Given the description of an element on the screen output the (x, y) to click on. 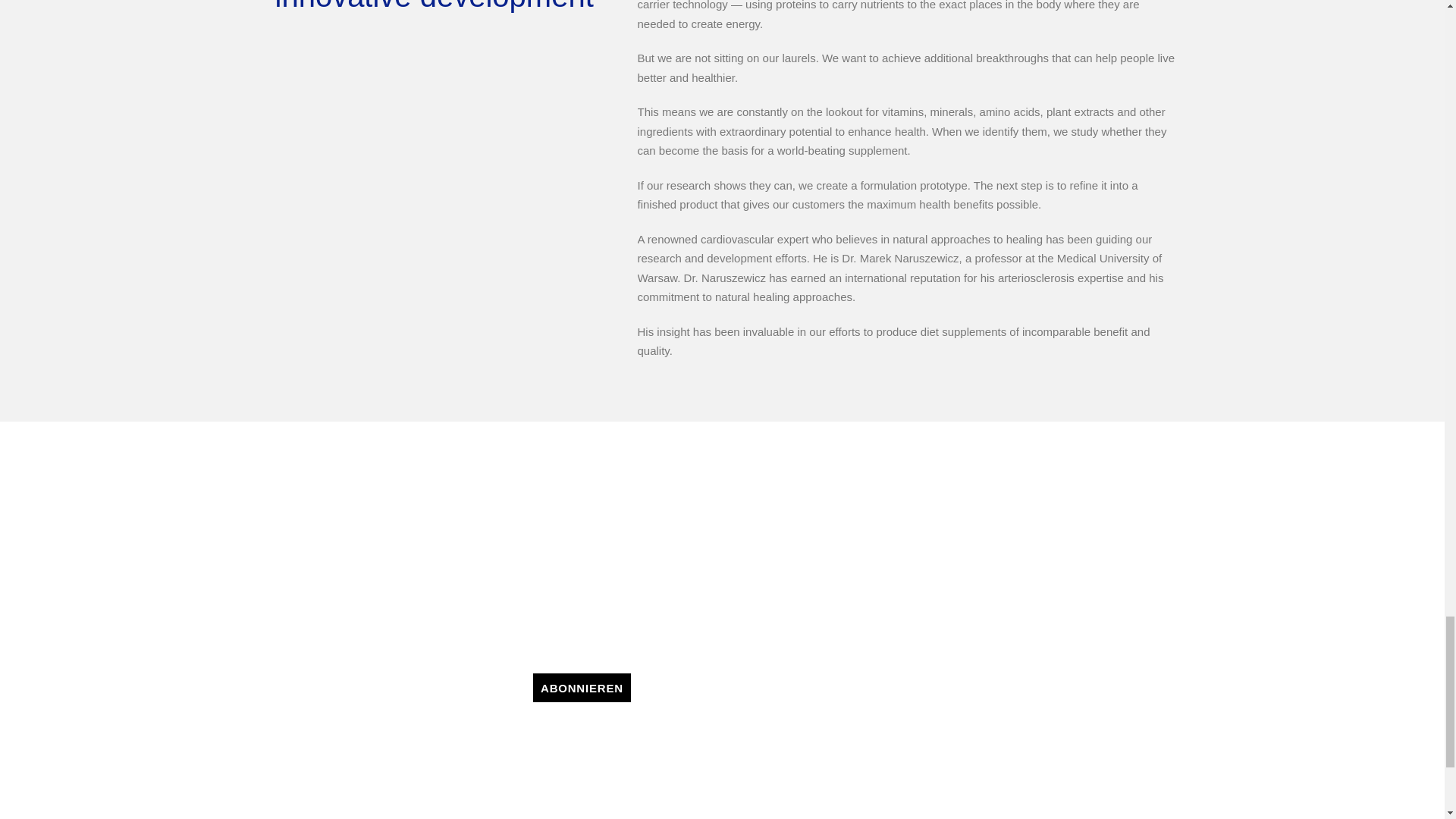
Abonnieren (581, 687)
film-lab-still2 (441, 175)
